Given the description of an element on the screen output the (x, y) to click on. 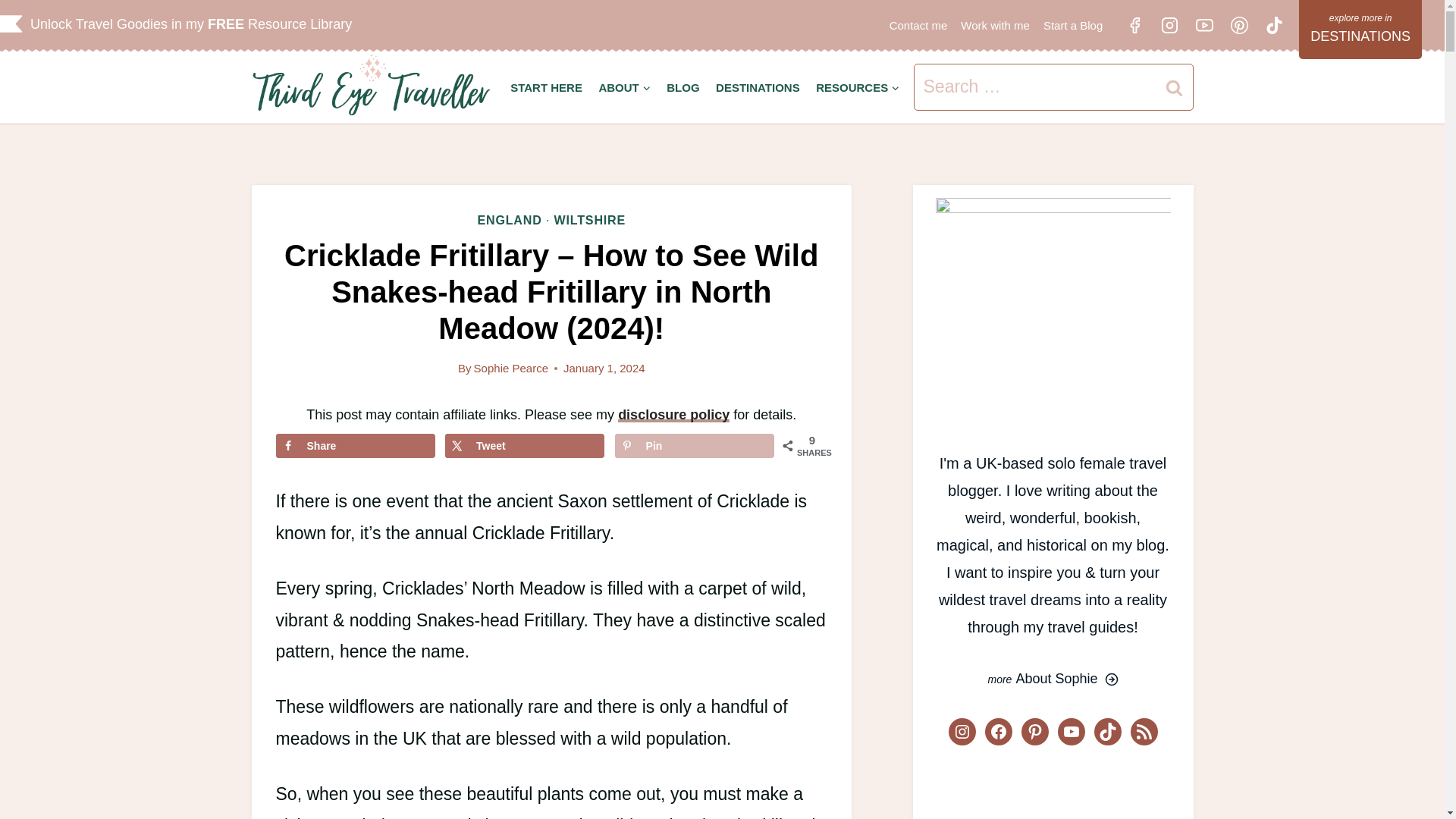
ABOUT (625, 87)
disclosure policy (673, 414)
Share on X (524, 445)
Save to Pinterest (694, 445)
Tweet (524, 445)
Work with me (994, 25)
RESOURCES (857, 87)
BLOG (682, 87)
ENGLAND (509, 219)
Pin (694, 445)
Contact me (918, 25)
Share (355, 445)
WILTSHIRE (589, 219)
DESTINATIONS (1360, 29)
Share on Facebook (355, 445)
